Given the description of an element on the screen output the (x, y) to click on. 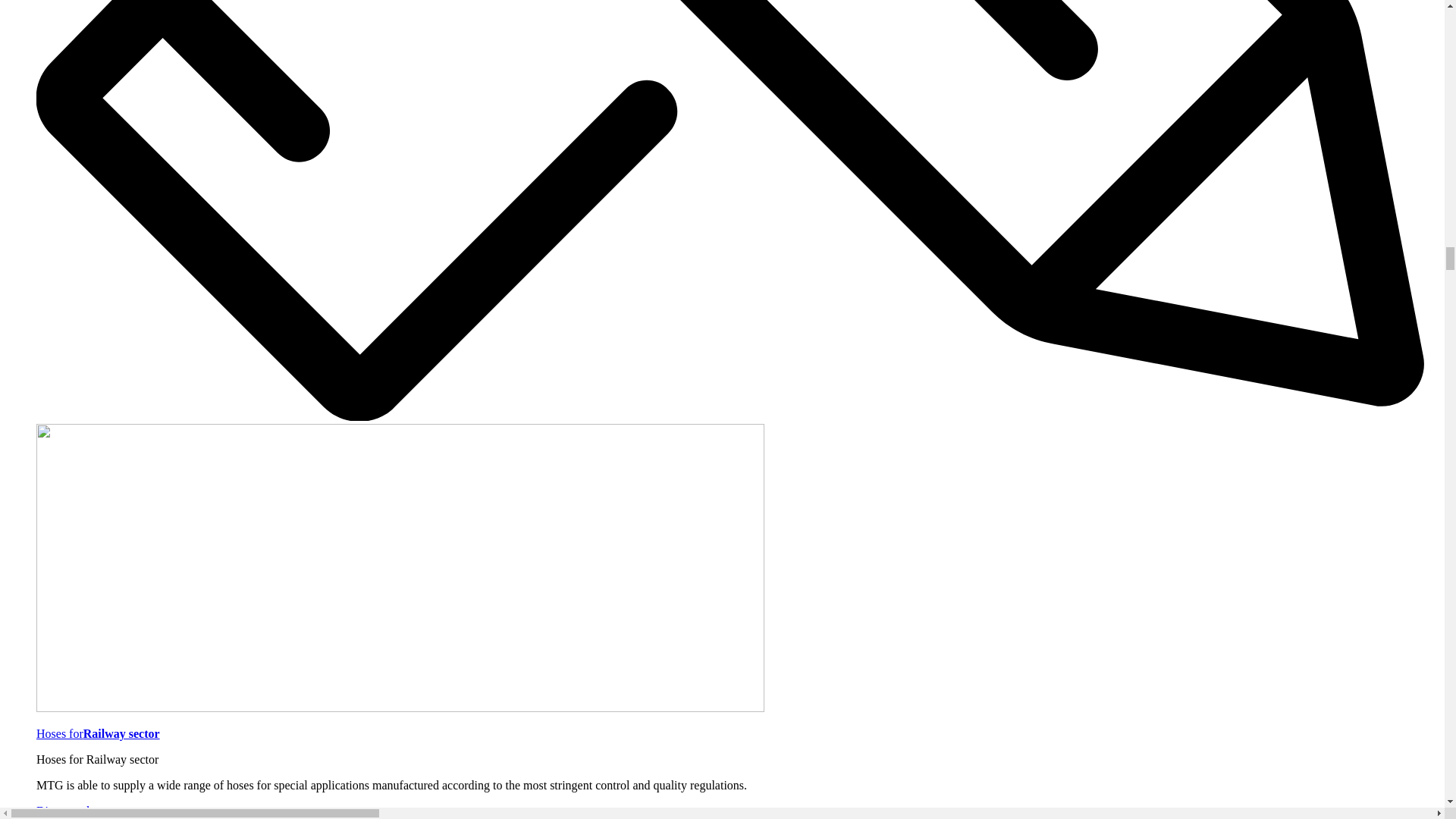
Discover the range (82, 810)
